Given the description of an element on the screen output the (x, y) to click on. 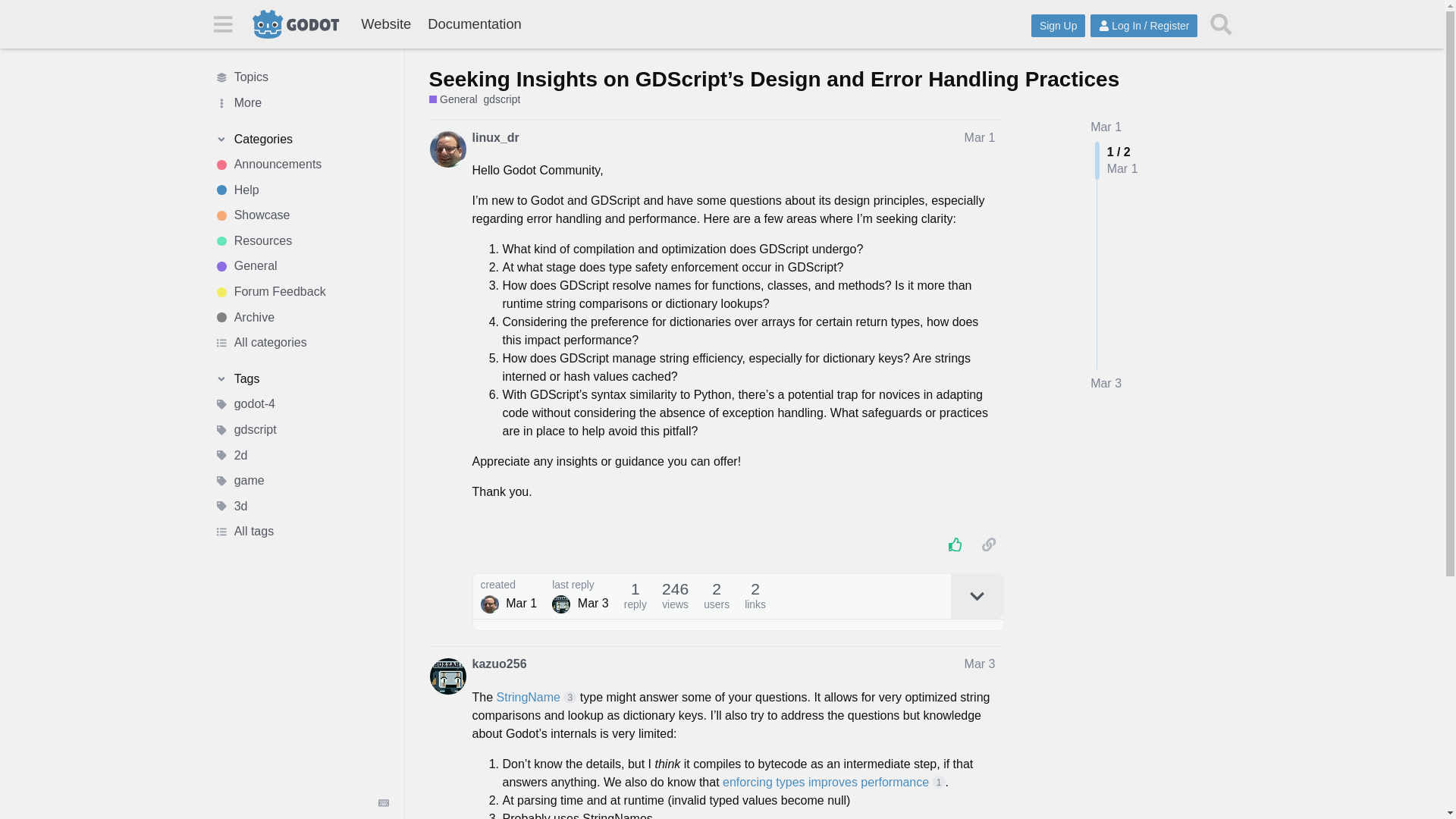
All topics (301, 77)
Toggle section (301, 139)
gdscript (502, 99)
Categories (301, 139)
Official blog posts and other Godot announcements. (301, 164)
Toggle section (301, 379)
Archive (301, 317)
